Given the description of an element on the screen output the (x, y) to click on. 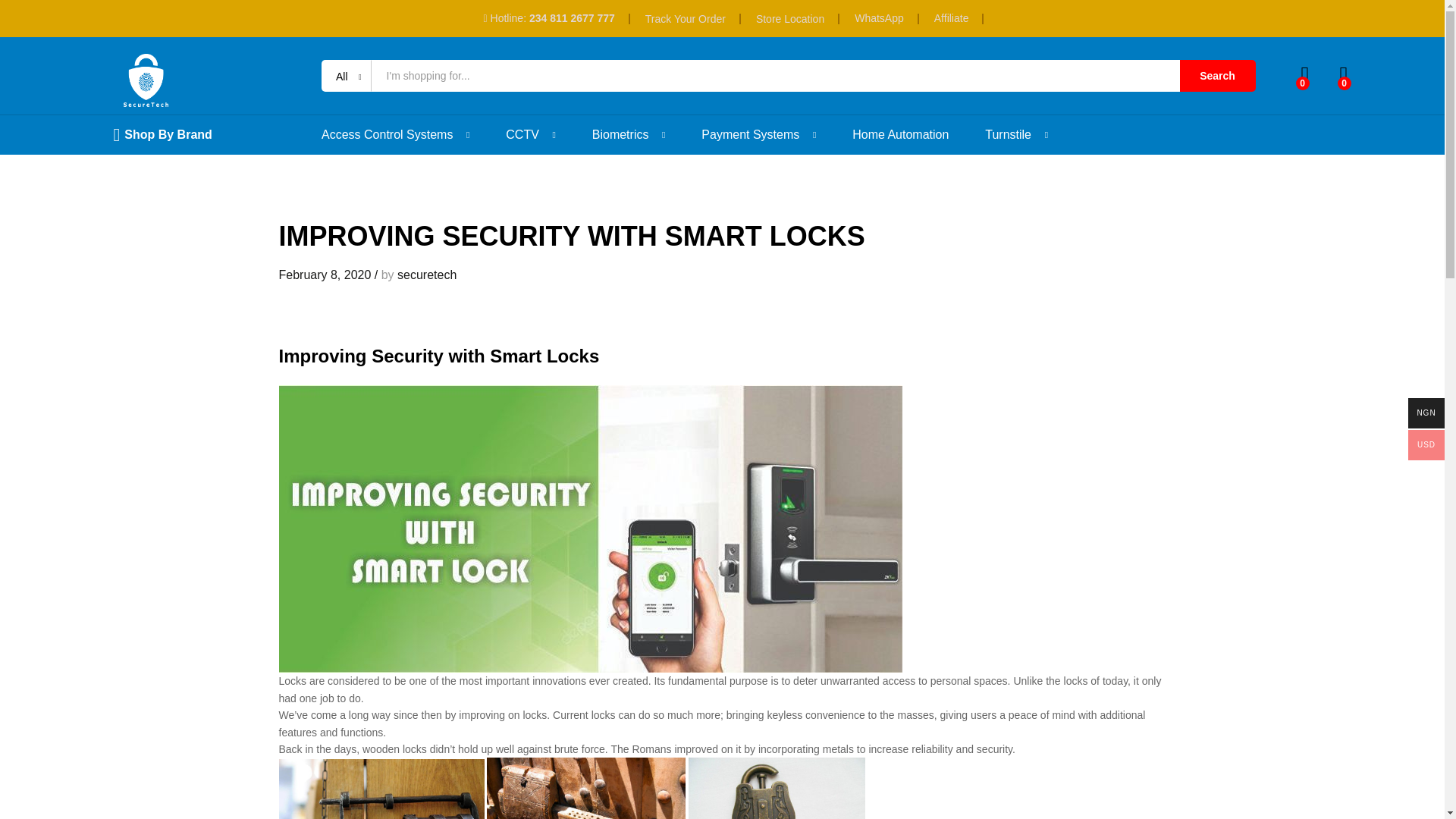
Affiliate (951, 18)
WhatsApp (879, 18)
234 811 2677 777 (571, 18)
Store Location (789, 18)
Track Your Order (685, 18)
